Given the description of an element on the screen output the (x, y) to click on. 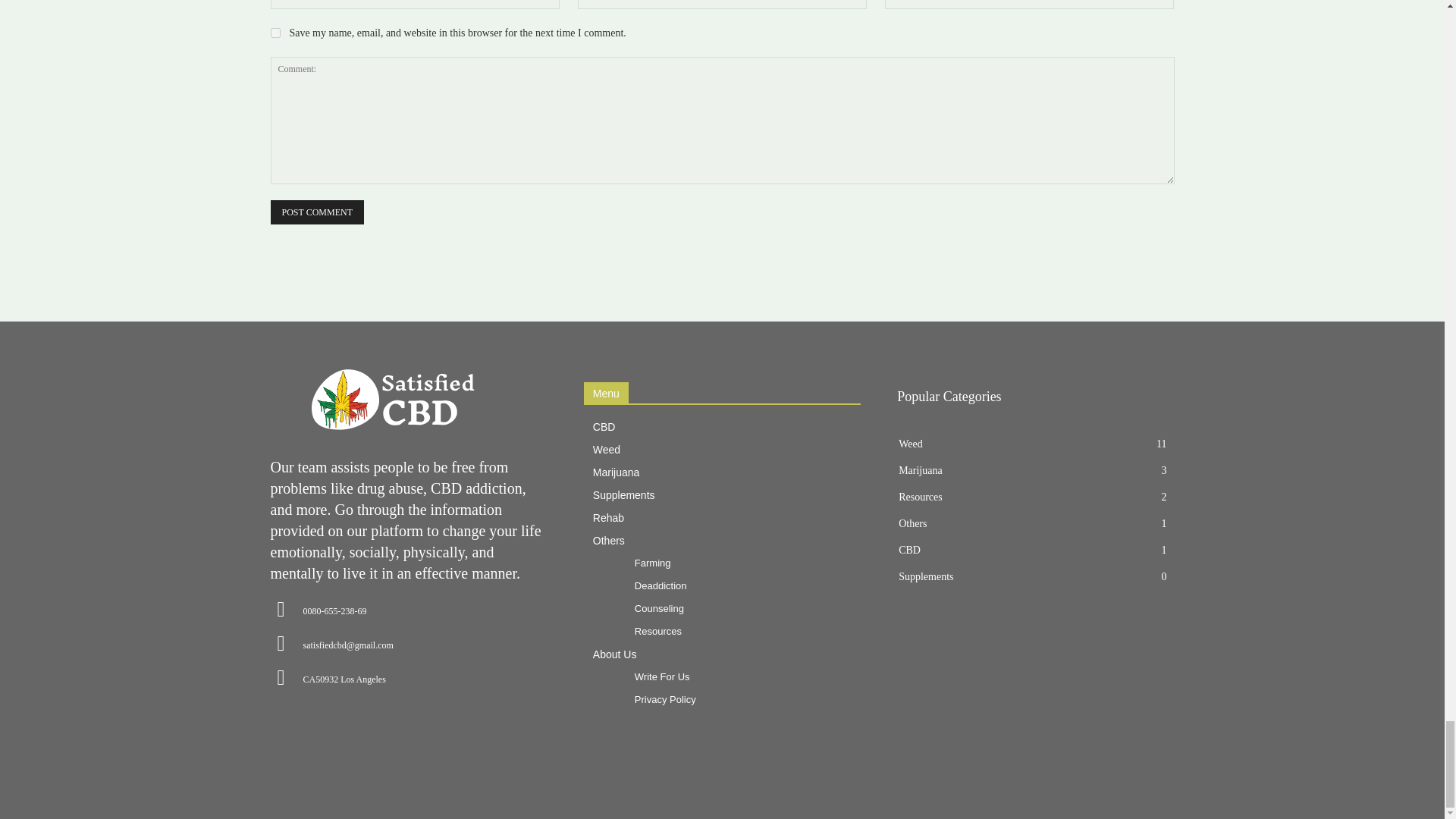
Post Comment (315, 212)
yes (274, 32)
